Given the description of an element on the screen output the (x, y) to click on. 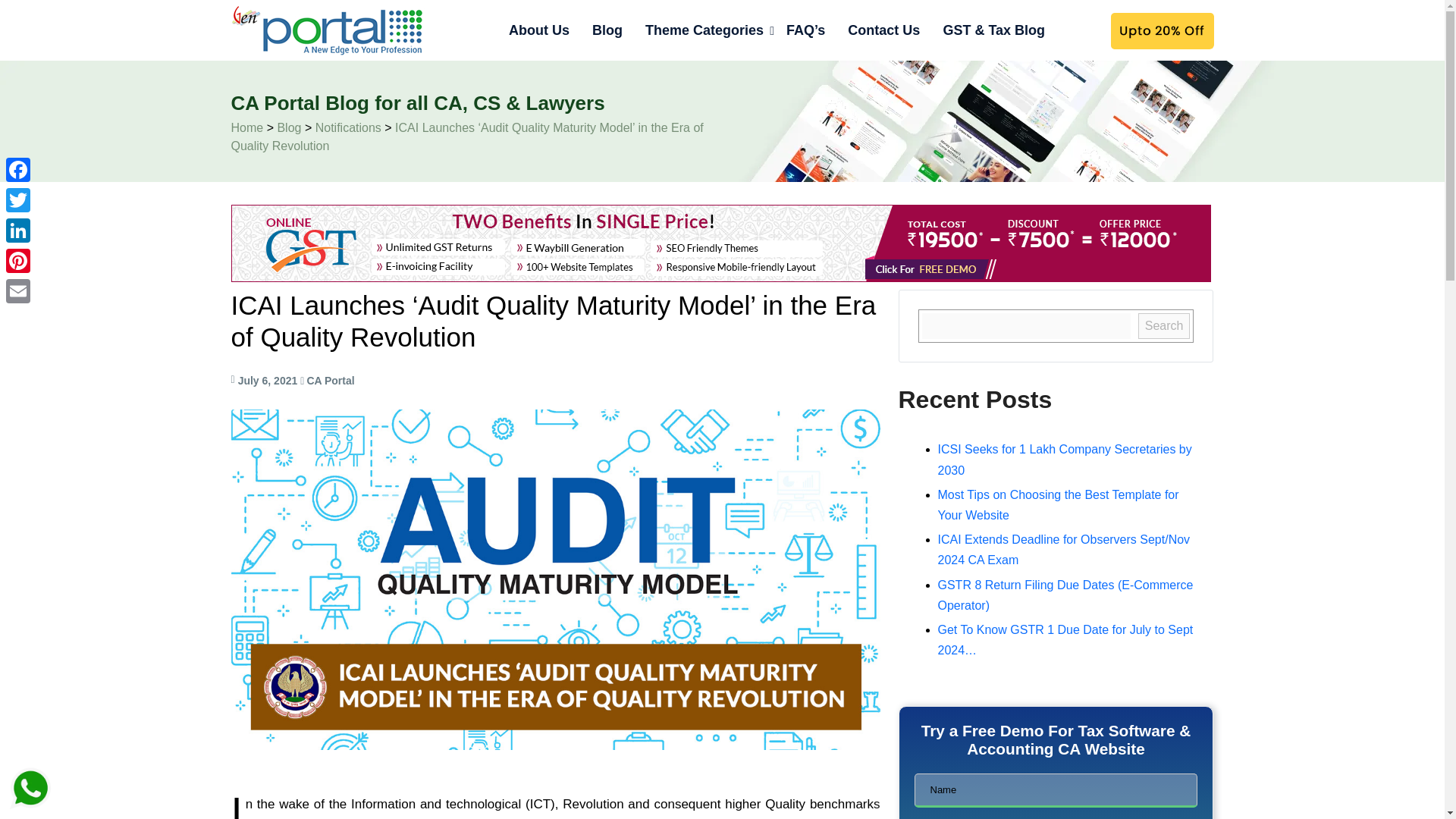
Go to CA Portal Blog. (246, 127)
ICSI Seeks for 1 Lakh Company Secretaries by 2030 (1064, 459)
Notifications (348, 127)
Most Tips on Choosing the Best Template for Your Website (1057, 504)
July 6, 2021 (268, 380)
About Us (538, 30)
Quote Now (1160, 30)
Go to Blog. (288, 127)
Theme Categories (703, 30)
Contact Us (883, 30)
